Given the description of an element on the screen output the (x, y) to click on. 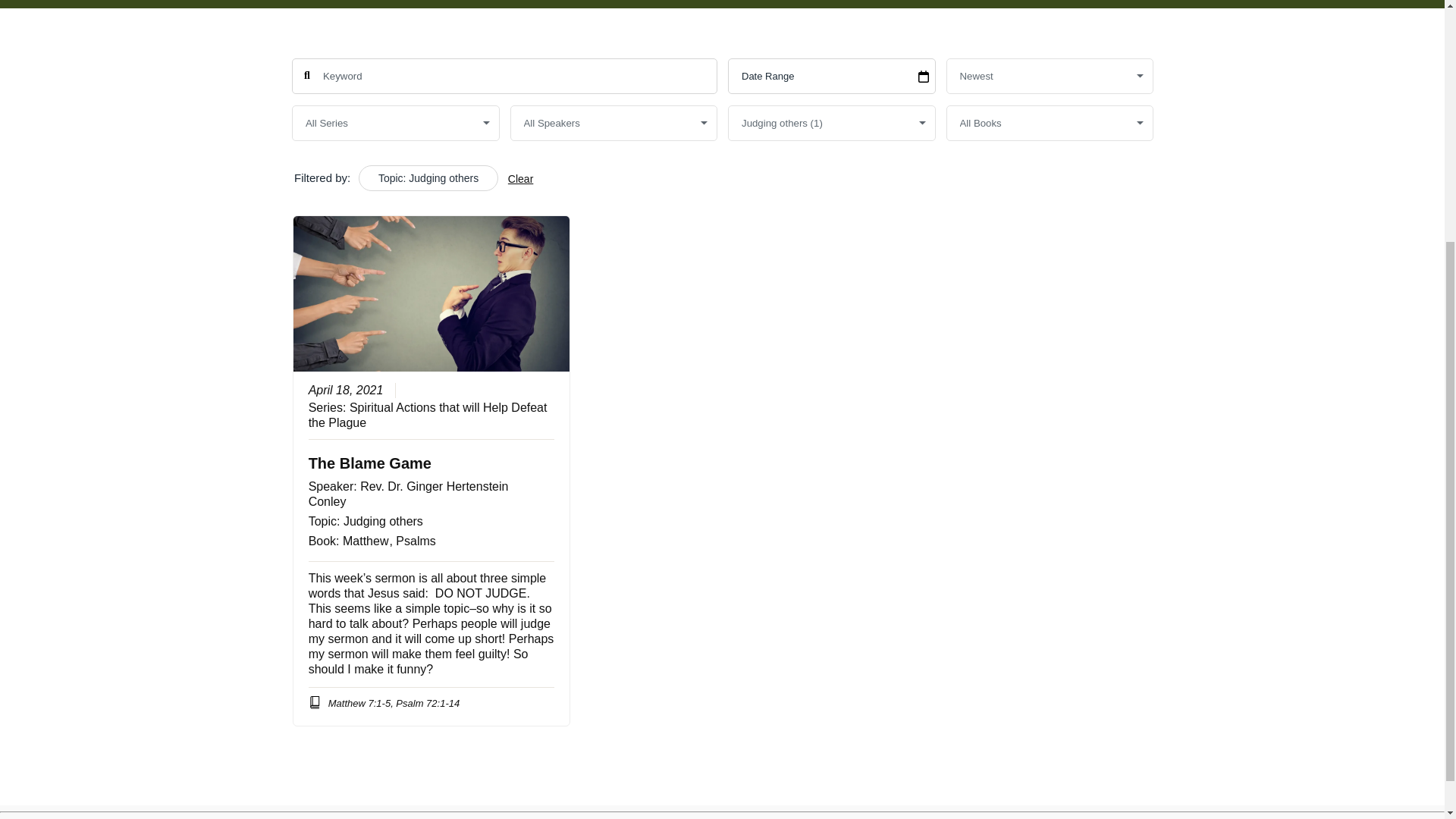
Matthew 7:1-5, Psalm 72:1-14 (383, 703)
Matthew (365, 540)
Spiritual Actions that will Help Defeat the Plague (427, 414)
The Blame Game (368, 462)
The Blame Game (368, 462)
Psalms (415, 540)
Judging others (382, 520)
Rev. Dr. Ginger Hertenstein Conley (407, 492)
Clear (519, 178)
